Given the description of an element on the screen output the (x, y) to click on. 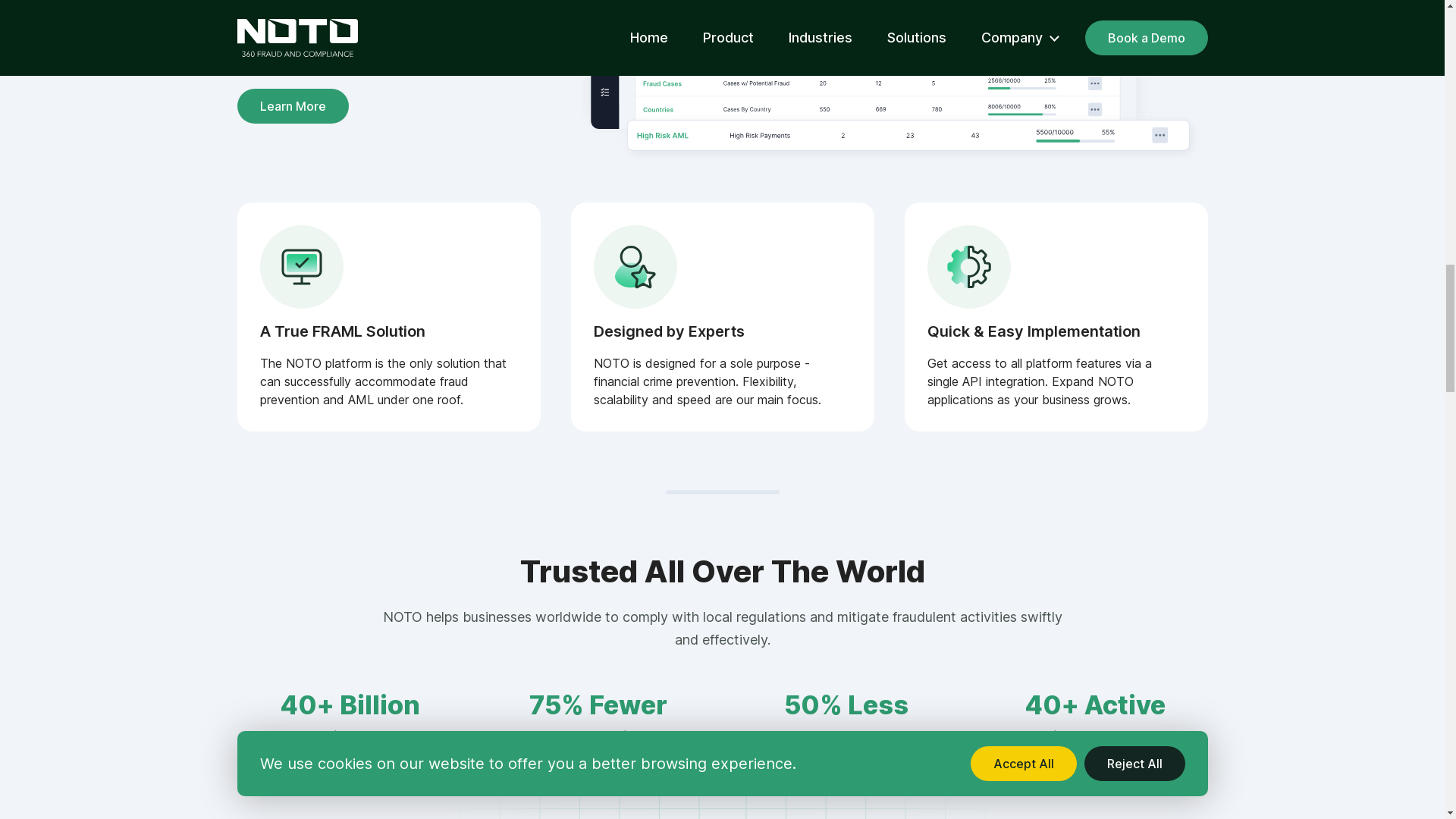
Learn More (291, 105)
